Given the description of an element on the screen output the (x, y) to click on. 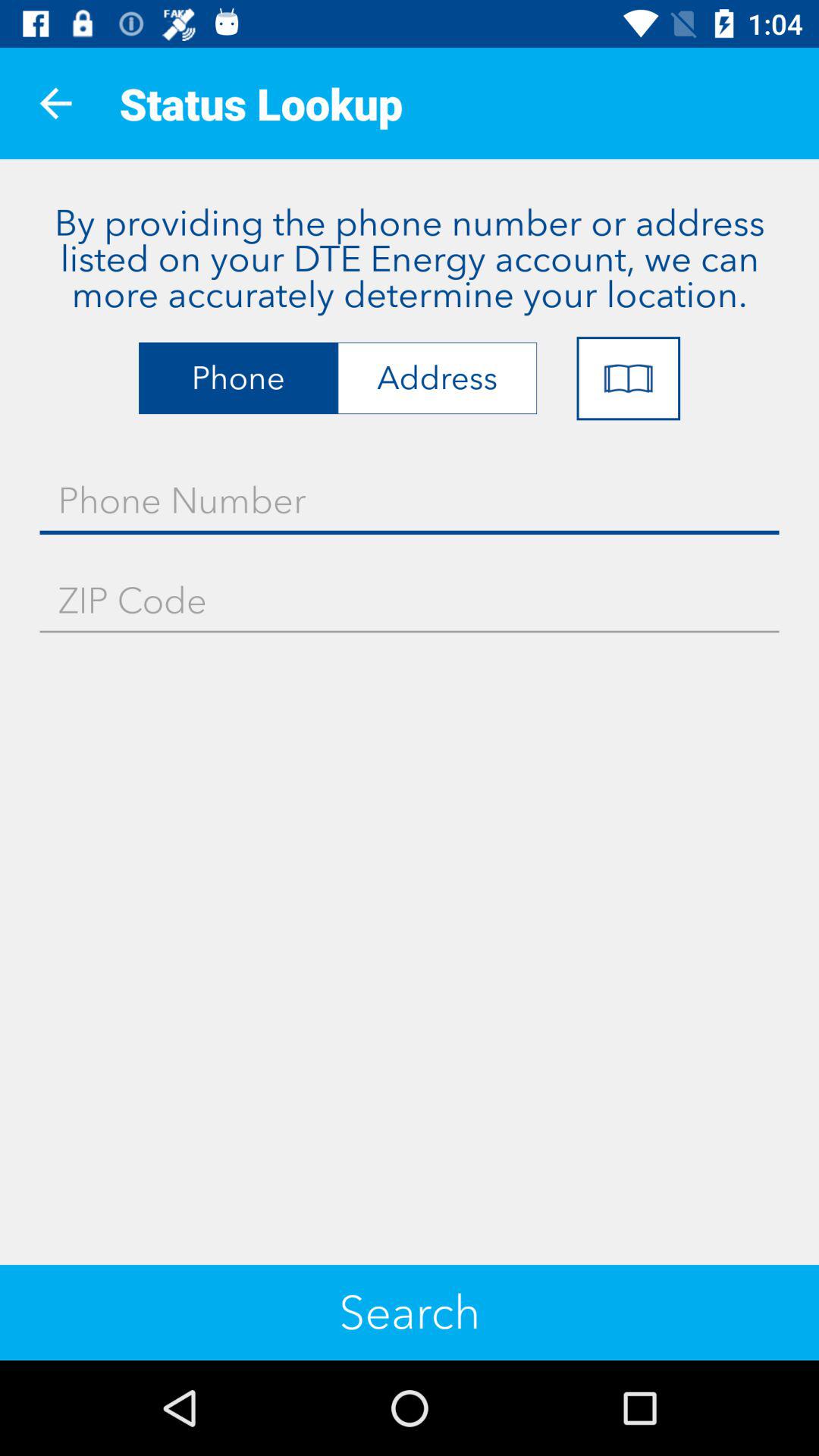
launch icon next to status lookup (55, 103)
